Given the description of an element on the screen output the (x, y) to click on. 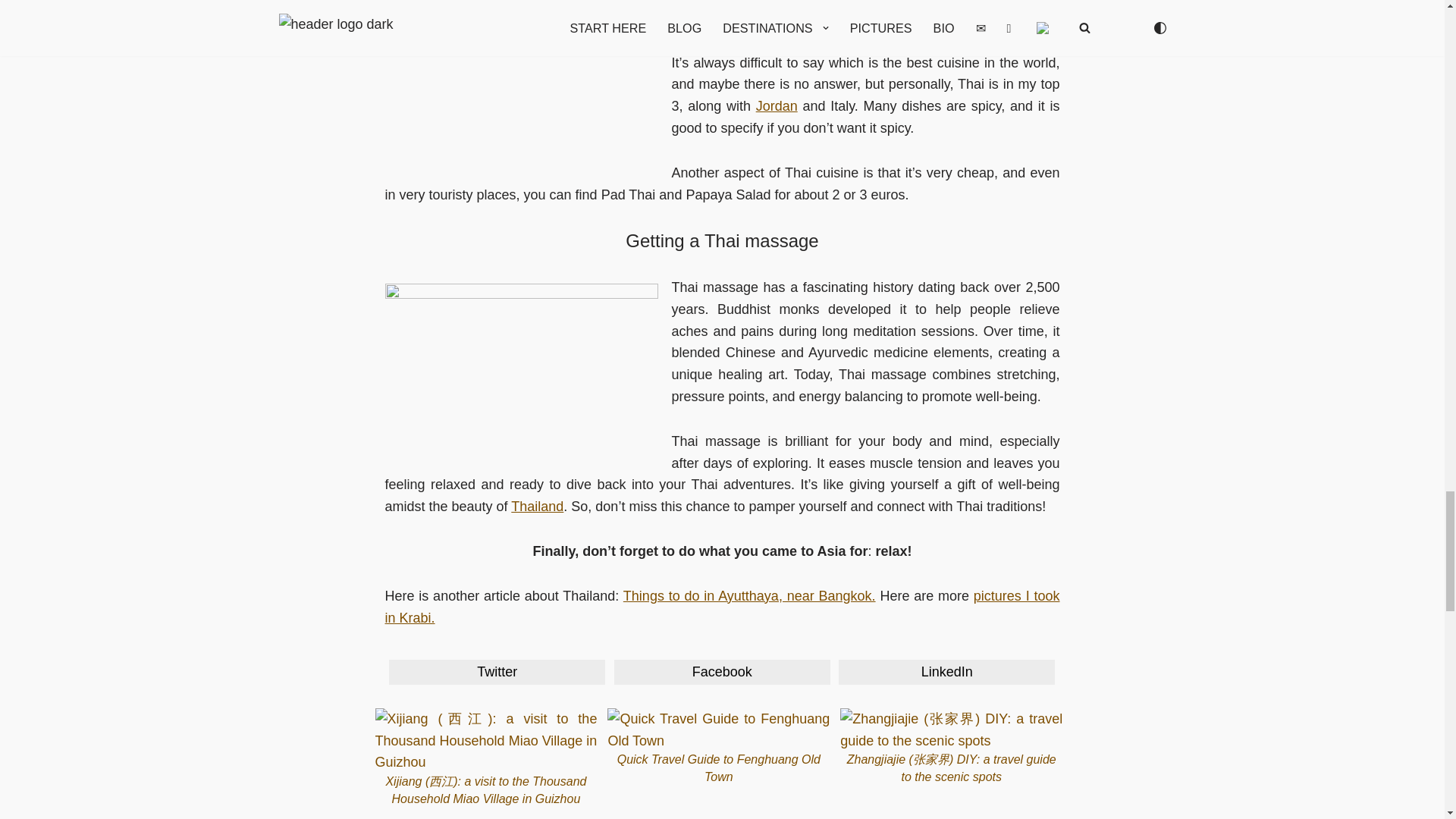
Quick Travel Guide to Fenghuang Old Town (718, 746)
